Given the description of an element on the screen output the (x, y) to click on. 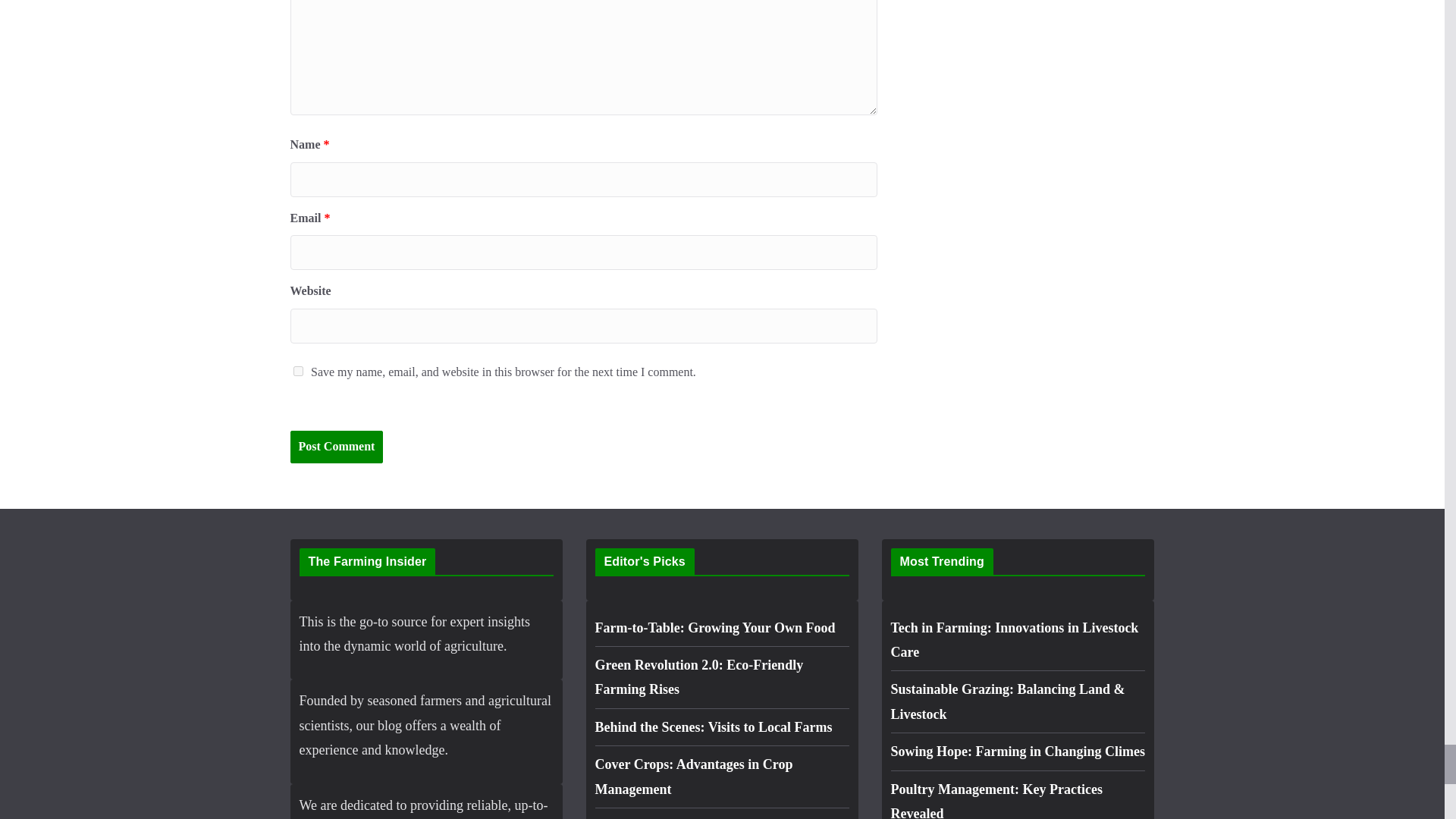
yes (297, 370)
Post Comment (335, 446)
